Given the description of an element on the screen output the (x, y) to click on. 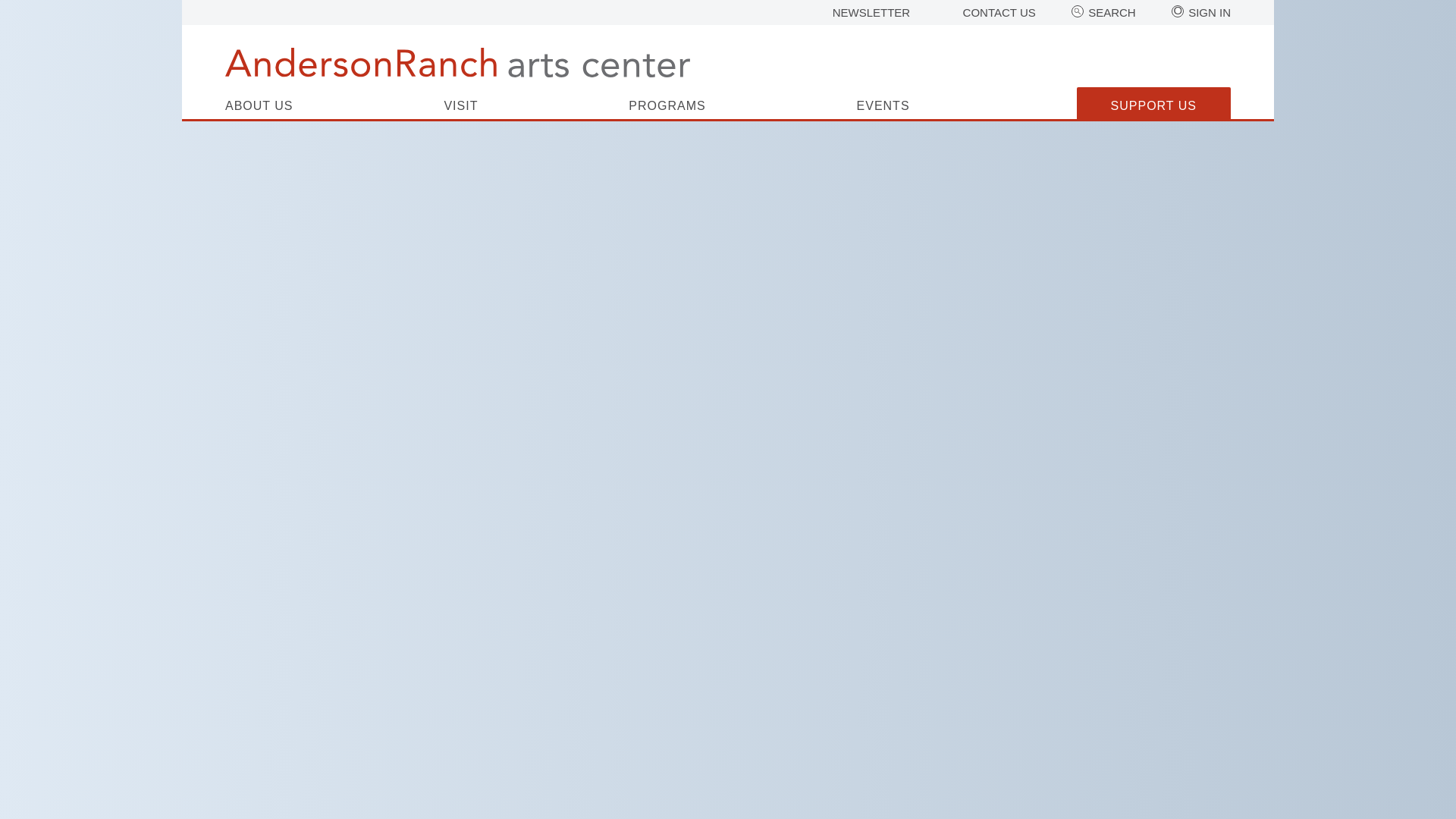
NEWSLETTER (871, 12)
Home (457, 61)
CONTACT US (998, 12)
